Given the description of an element on the screen output the (x, y) to click on. 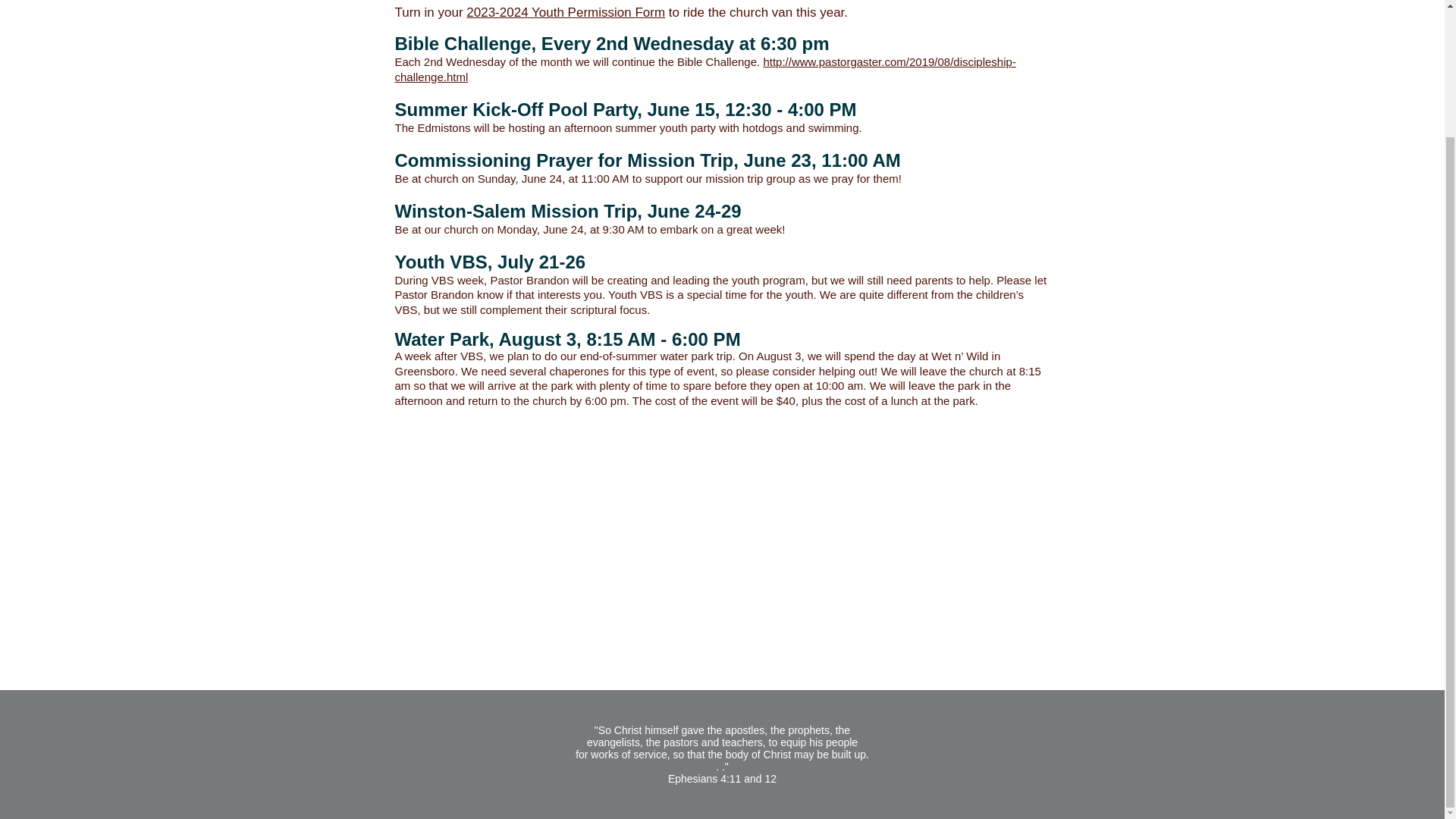
2023-2024 Youth Permission Form (565, 11)
